Given the description of an element on the screen output the (x, y) to click on. 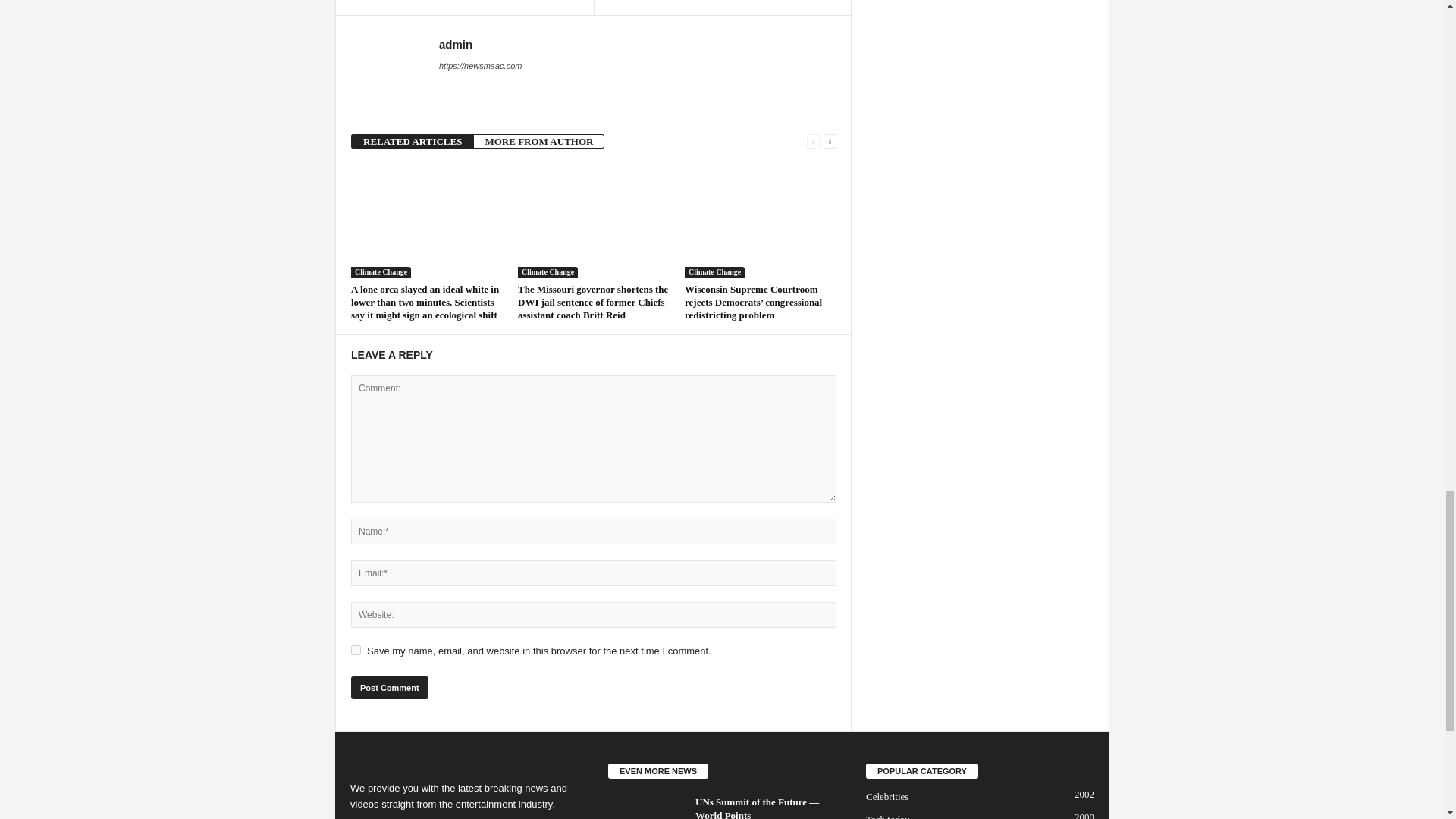
Post Comment (389, 687)
yes (355, 650)
